Given the description of an element on the screen output the (x, y) to click on. 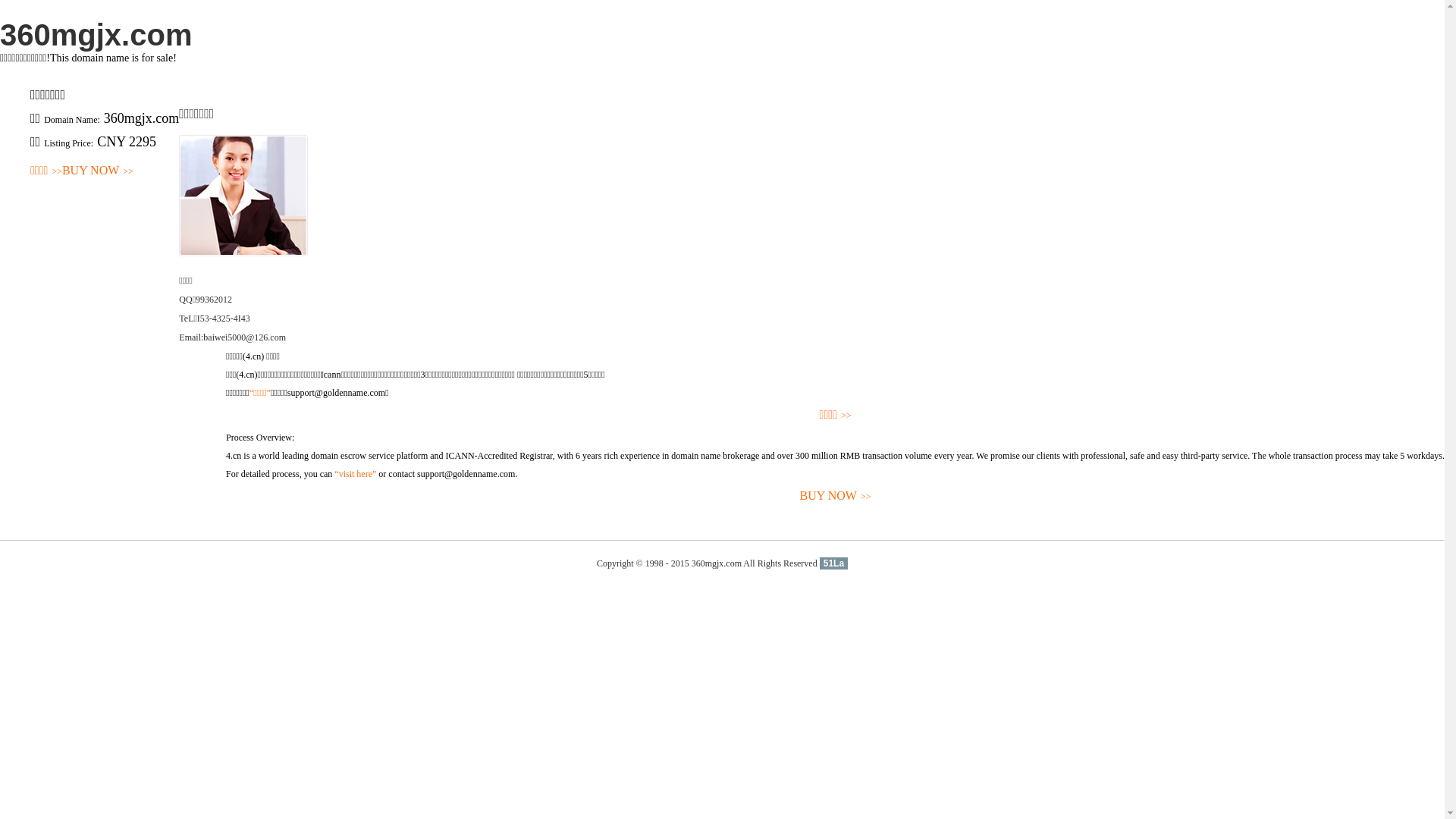
51La Element type: text (833, 563)
BUY NOW>> Element type: text (97, 170)
BUY NOW>> Element type: text (834, 496)
